Given the description of an element on the screen output the (x, y) to click on. 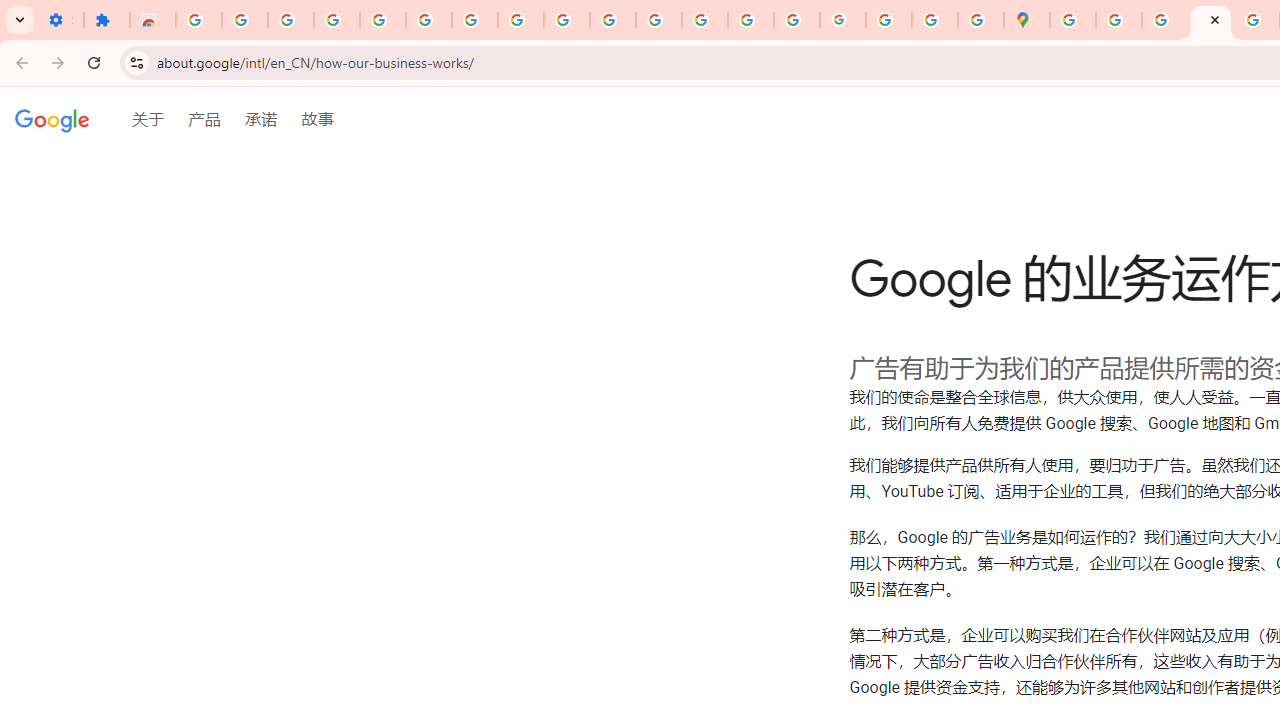
Settings - On startup (60, 20)
Delete photos & videos - Computer - Google Photos Help (290, 20)
https://scholar.google.com/ (659, 20)
Google Account (520, 20)
Google Maps (1026, 20)
Reviews: Helix Fruit Jump Arcade Game (153, 20)
